Given the description of an element on the screen output the (x, y) to click on. 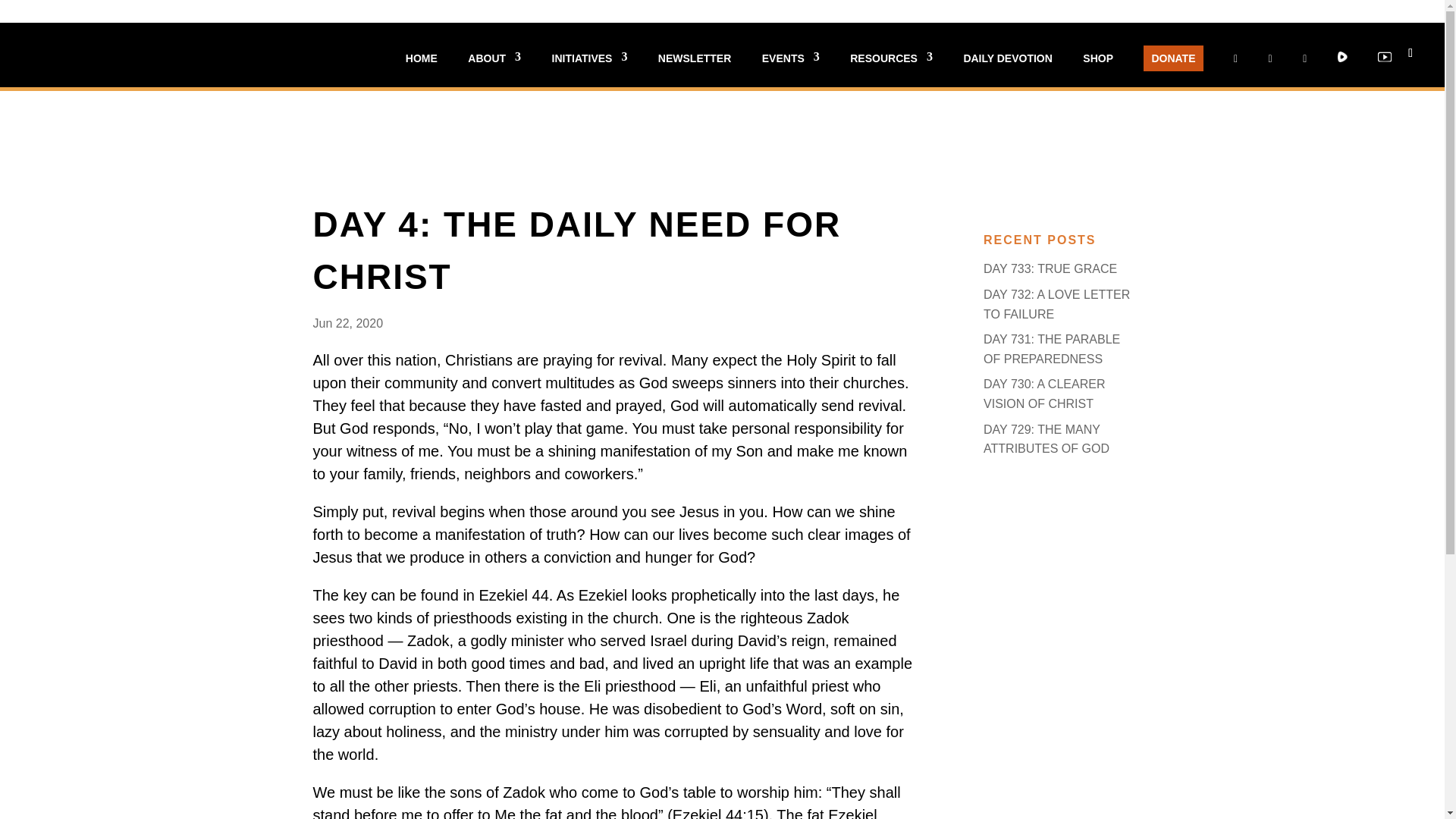
DONATE (1172, 58)
NEWSLETTER (694, 69)
Shop Here (810, 72)
RESOURCES (891, 69)
ABOUT (494, 69)
SHOP (1098, 69)
EVENTS (790, 69)
HOME (422, 69)
DAILY DEVOTION (1006, 69)
INITIATIVES (589, 69)
